Given the description of an element on the screen output the (x, y) to click on. 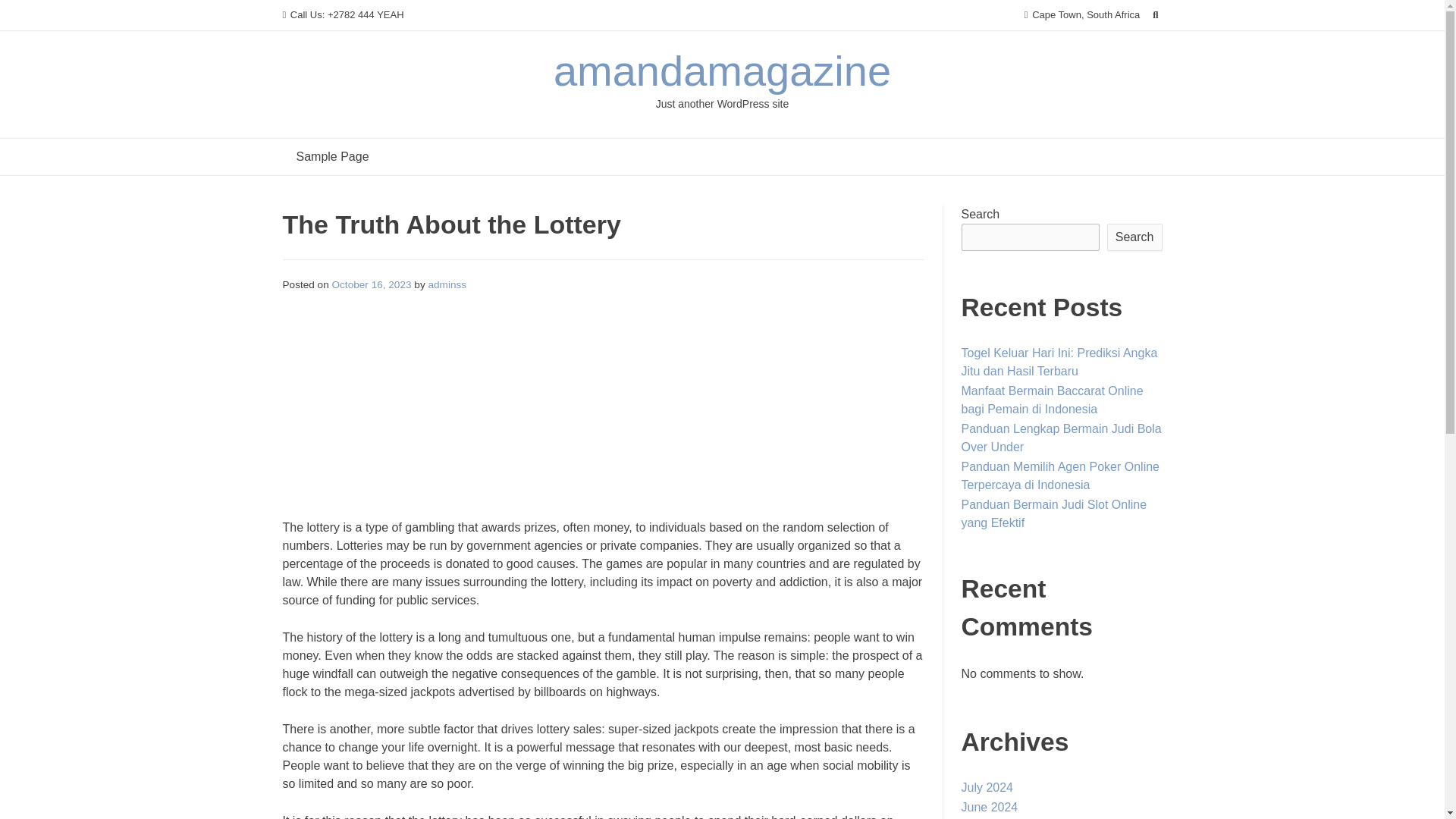
October 16, 2023 (371, 284)
amandamagazine (722, 70)
Panduan Bermain Judi Slot Online yang Efektif (1053, 513)
Search (27, 13)
Search (1133, 236)
Sample Page (331, 156)
June 2024 (988, 807)
Togel Keluar Hari Ini: Prediksi Angka Jitu dan Hasil Terbaru (1058, 361)
adminss (446, 284)
Manfaat Bermain Baccarat Online bagi Pemain di Indonesia (1051, 399)
Panduan Lengkap Bermain Judi Bola Over Under (1060, 437)
Panduan Memilih Agen Poker Online Terpercaya di Indonesia (1060, 475)
July 2024 (986, 787)
